Given the description of an element on the screen output the (x, y) to click on. 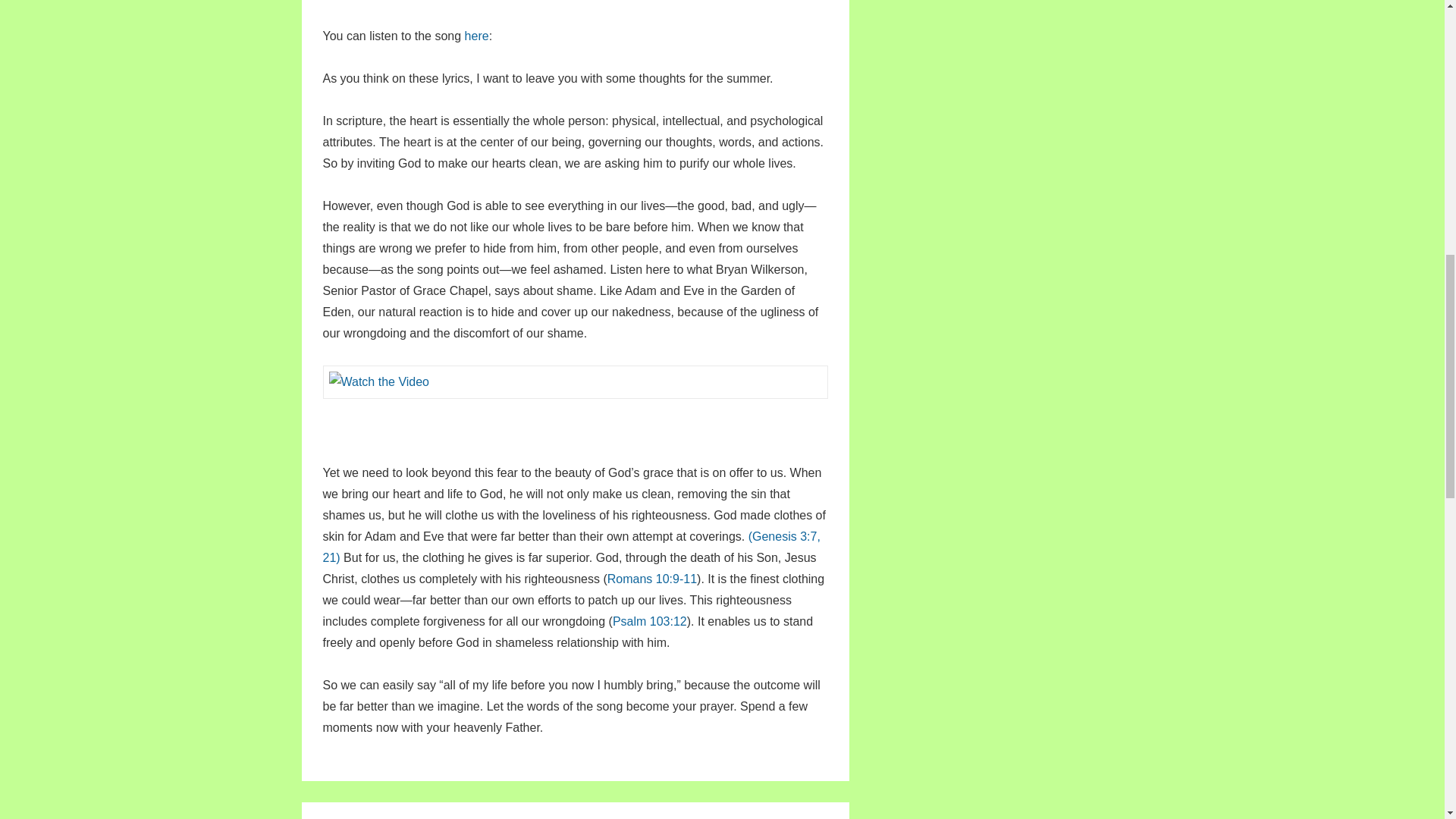
Psalm 103:12 (649, 621)
Watch the Video (379, 382)
Romans 10:9-11 (652, 578)
here (476, 35)
